Given the description of an element on the screen output the (x, y) to click on. 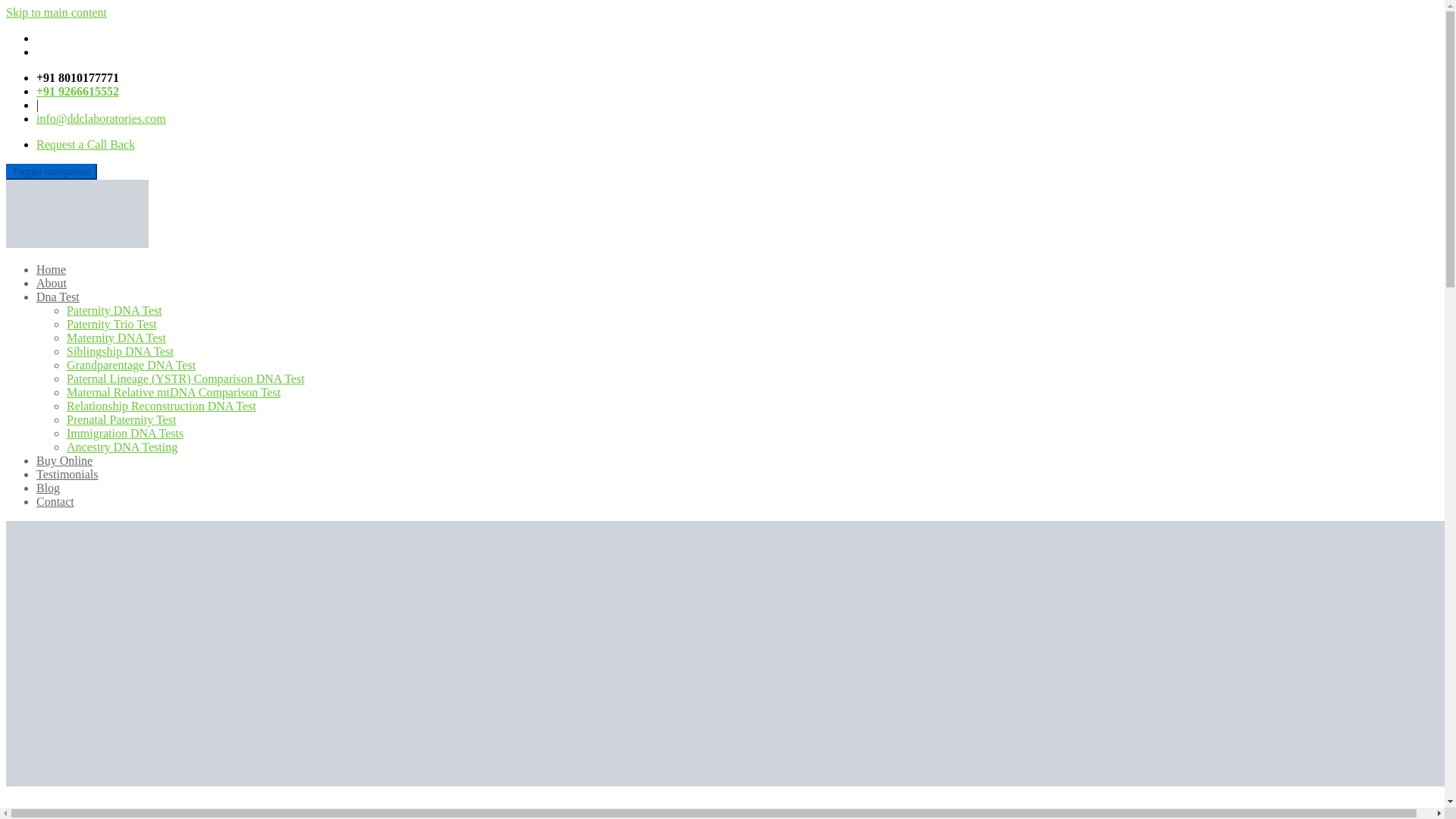
Testimonials (67, 473)
DNA Forensics Lab (85, 144)
Maternity DNA Test (115, 337)
Buy Online (64, 460)
Relationship Reconstruction DNA Test (161, 405)
Dna Test (58, 296)
Grandparentage DNA Test (130, 364)
Immigration DNA Tests (124, 432)
Siblingship DNA Test (119, 350)
Paternity Trio Test (111, 323)
